Given the description of an element on the screen output the (x, y) to click on. 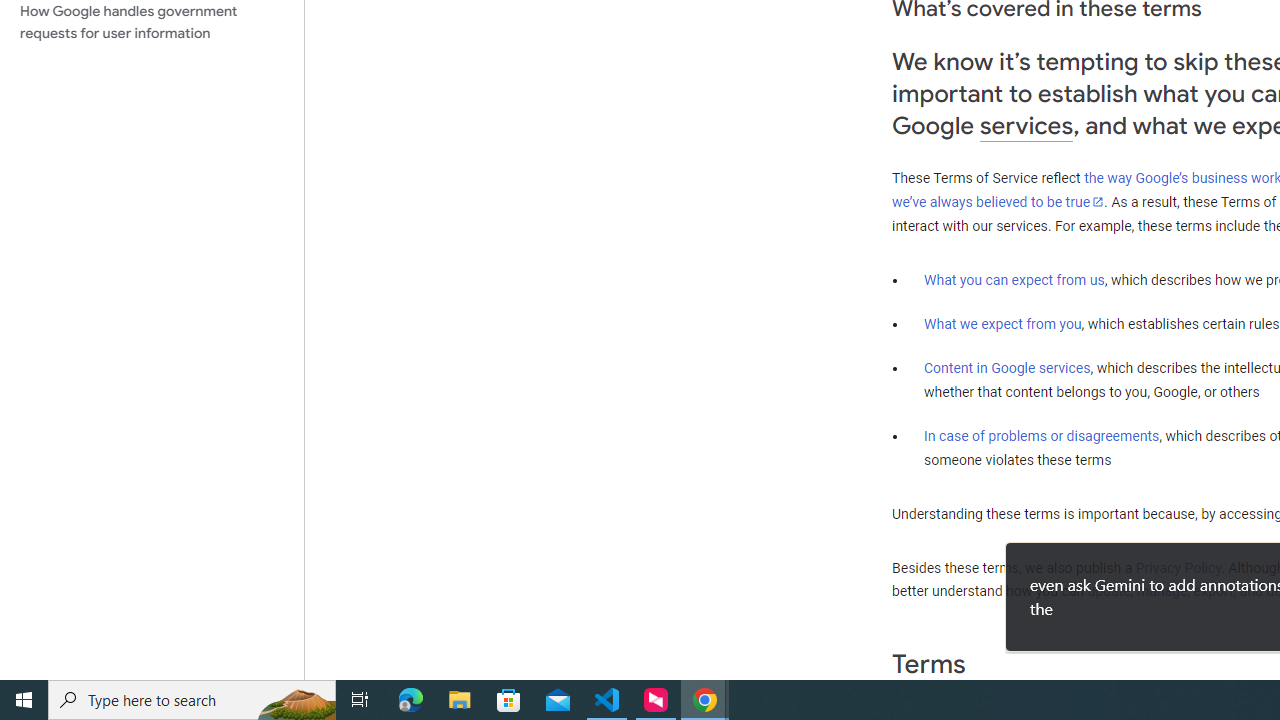
What we expect from you (1002, 323)
What you can expect from us (1014, 279)
Content in Google services (1007, 368)
In case of problems or disagreements (1041, 435)
services (1026, 125)
